Given the description of an element on the screen output the (x, y) to click on. 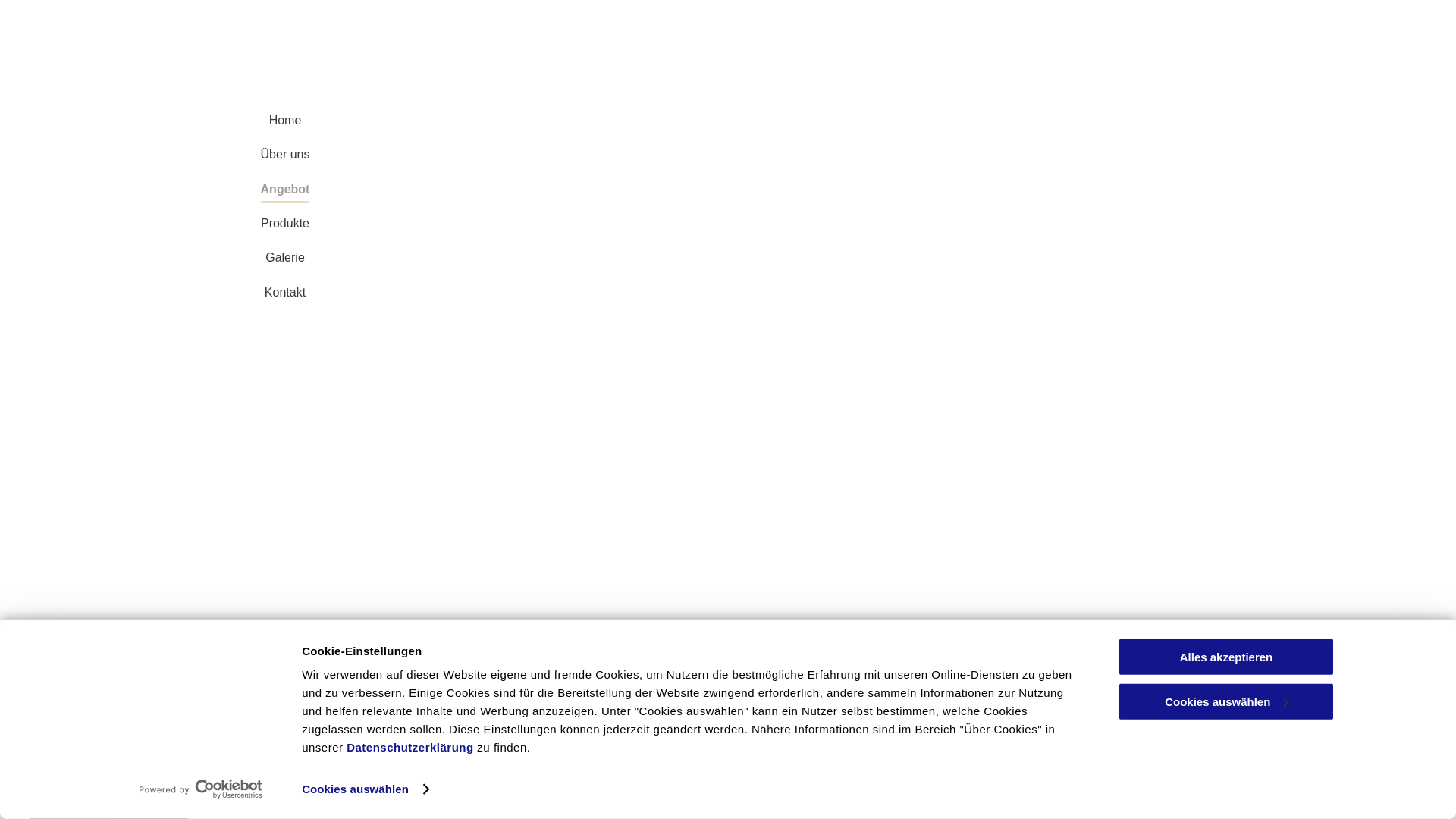
Home Element type: text (552, 725)
Kontakt Element type: text (284, 293)
Kontakt Element type: text (885, 725)
Galerie Element type: text (822, 725)
Coiffure Elsbeth Meier Element type: text (145, 695)
Angebot Element type: text (686, 725)
Produkte Element type: text (284, 224)
Angebot Element type: text (284, 189)
Alles akzeptieren Element type: text (1225, 656)
Coiffure Elsbeth Meier Element type: text (137, 646)
Produkte Element type: text (755, 725)
Galerie Element type: text (284, 258)
Home Element type: text (284, 120)
